Given the description of an element on the screen output the (x, y) to click on. 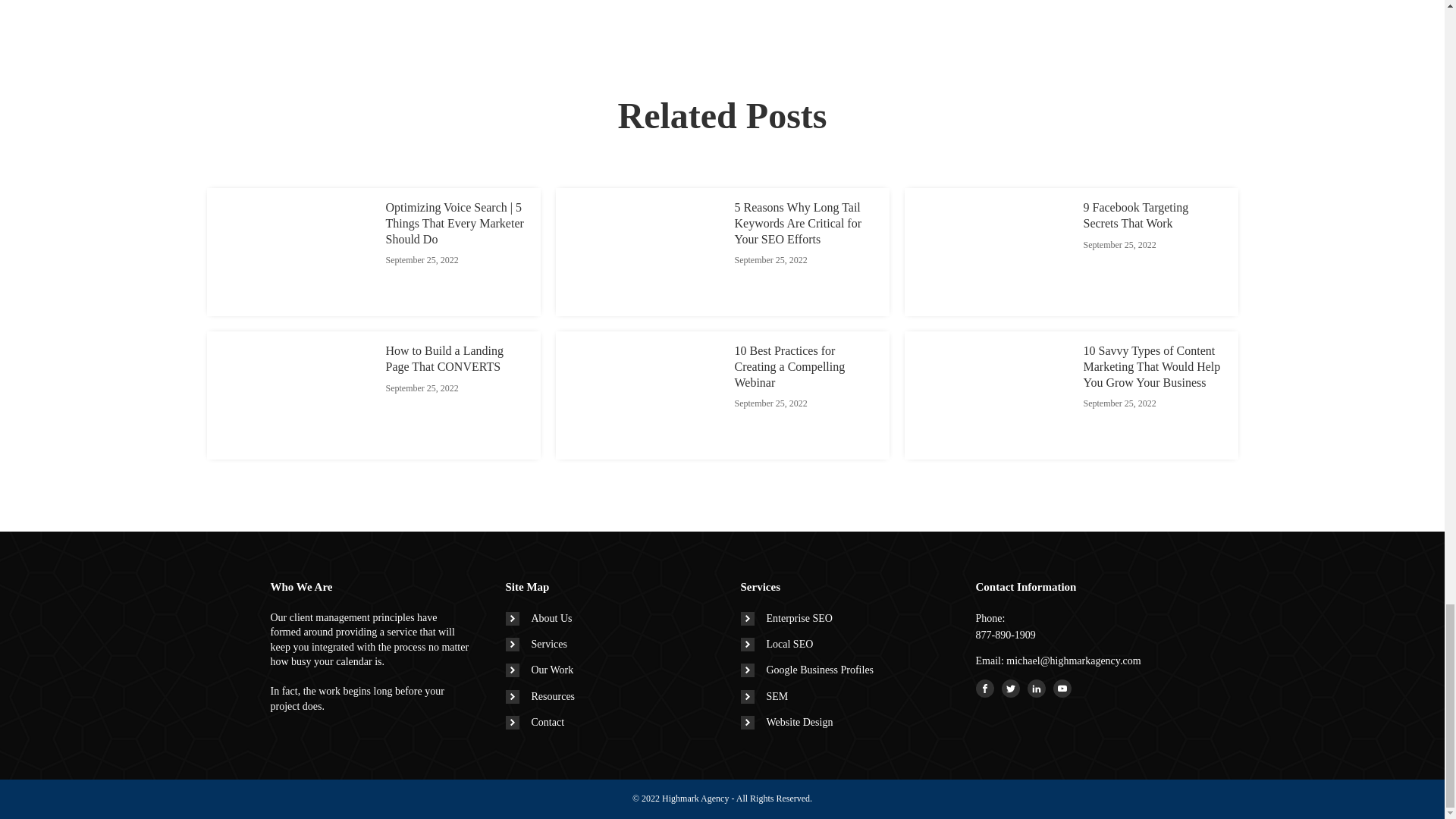
Contact (534, 722)
Enterprise SEO (785, 618)
Our Work (539, 669)
Resources (540, 696)
Services (535, 644)
About Us (538, 618)
